Given the description of an element on the screen output the (x, y) to click on. 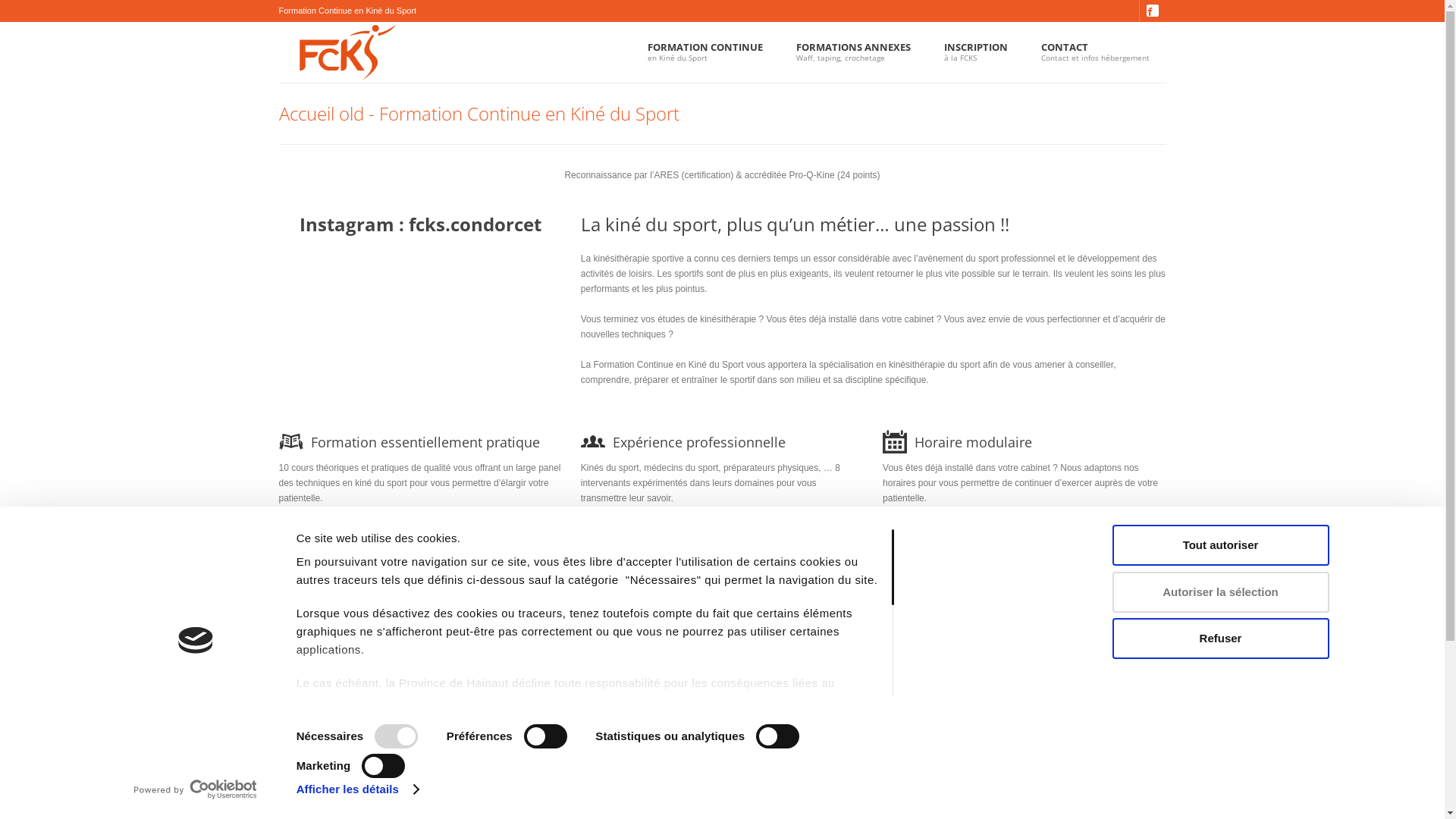
Refuser Element type: text (1219, 638)
FORMATIONS ANNEXES
Waff, taping, crochetage Element type: text (853, 51)
Voir les cours Element type: text (323, 531)
Consulter les horaires Element type: text (948, 531)
Voir les intervenants Element type: text (642, 531)
Tout autoriser Element type: text (1219, 544)
